Given the description of an element on the screen output the (x, y) to click on. 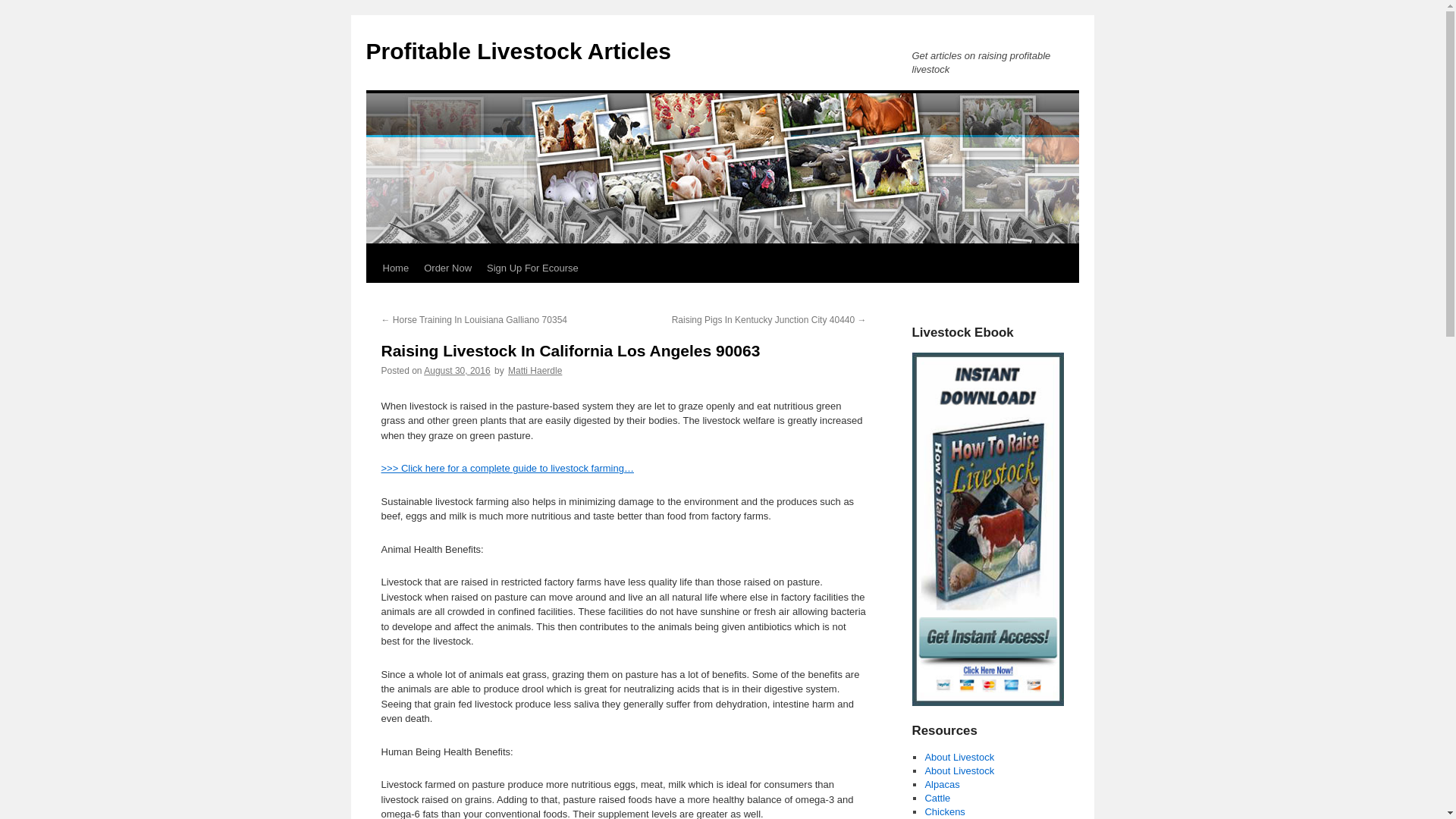
August 30, 2016 (456, 370)
Profitable Livestock Articles (517, 50)
Profitable Livestock Articles (517, 50)
Home (395, 267)
Alpacas (941, 784)
Order Now (447, 267)
About Livestock (959, 770)
Cattle (937, 797)
12:04 pm (456, 370)
View all posts by Matti Haerdle (535, 370)
About Livestock (959, 756)
Matti Haerdle (535, 370)
Sign Up For Ecourse (532, 267)
